Given the description of an element on the screen output the (x, y) to click on. 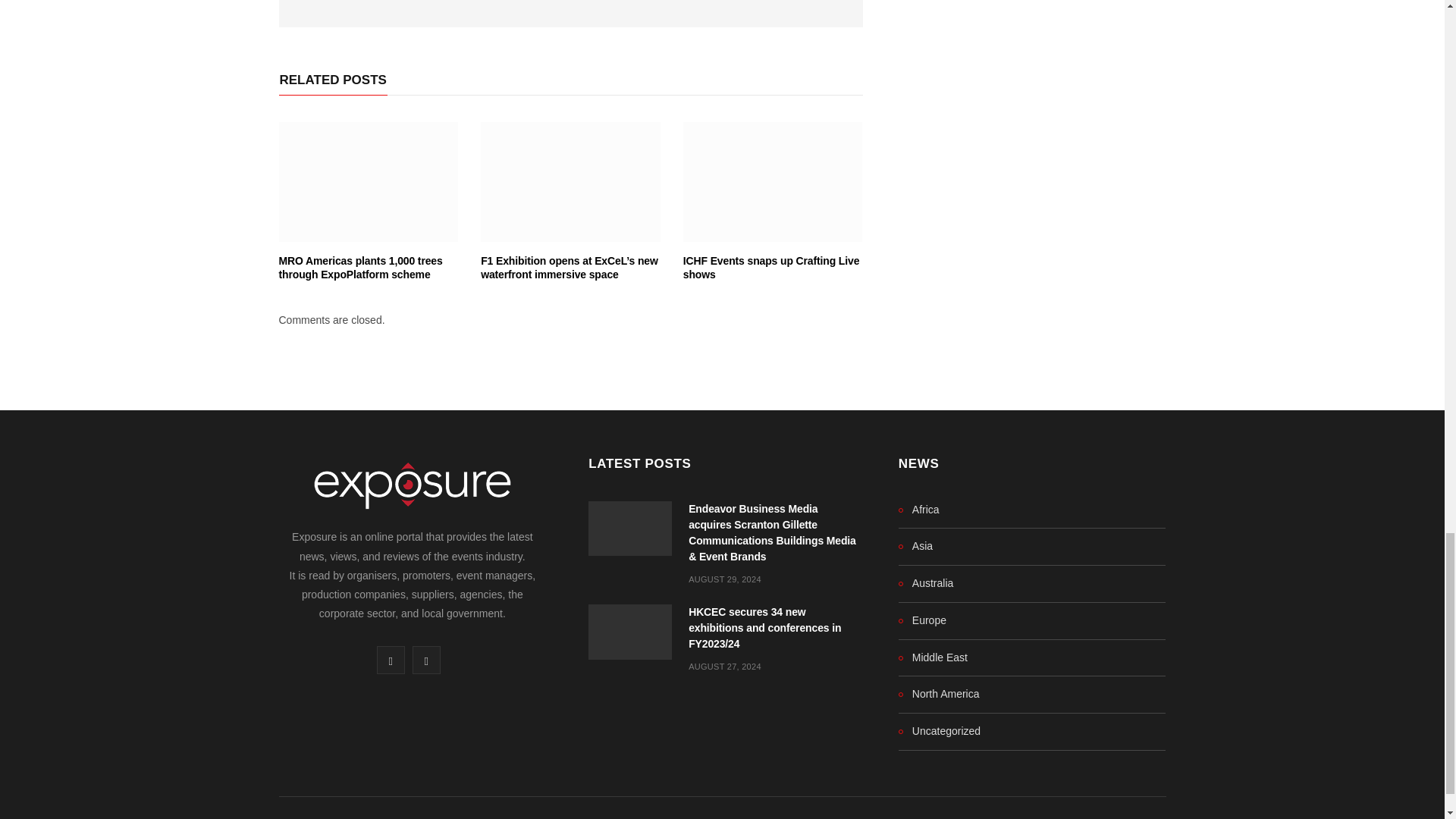
ICHF Events snaps up Crafting Live shows (771, 267)
MRO Americas plants 1,000 trees through ExpoPlatform scheme (360, 267)
MRO Americas plants 1,000 trees through ExpoPlatform scheme (368, 181)
